Given the description of an element on the screen output the (x, y) to click on. 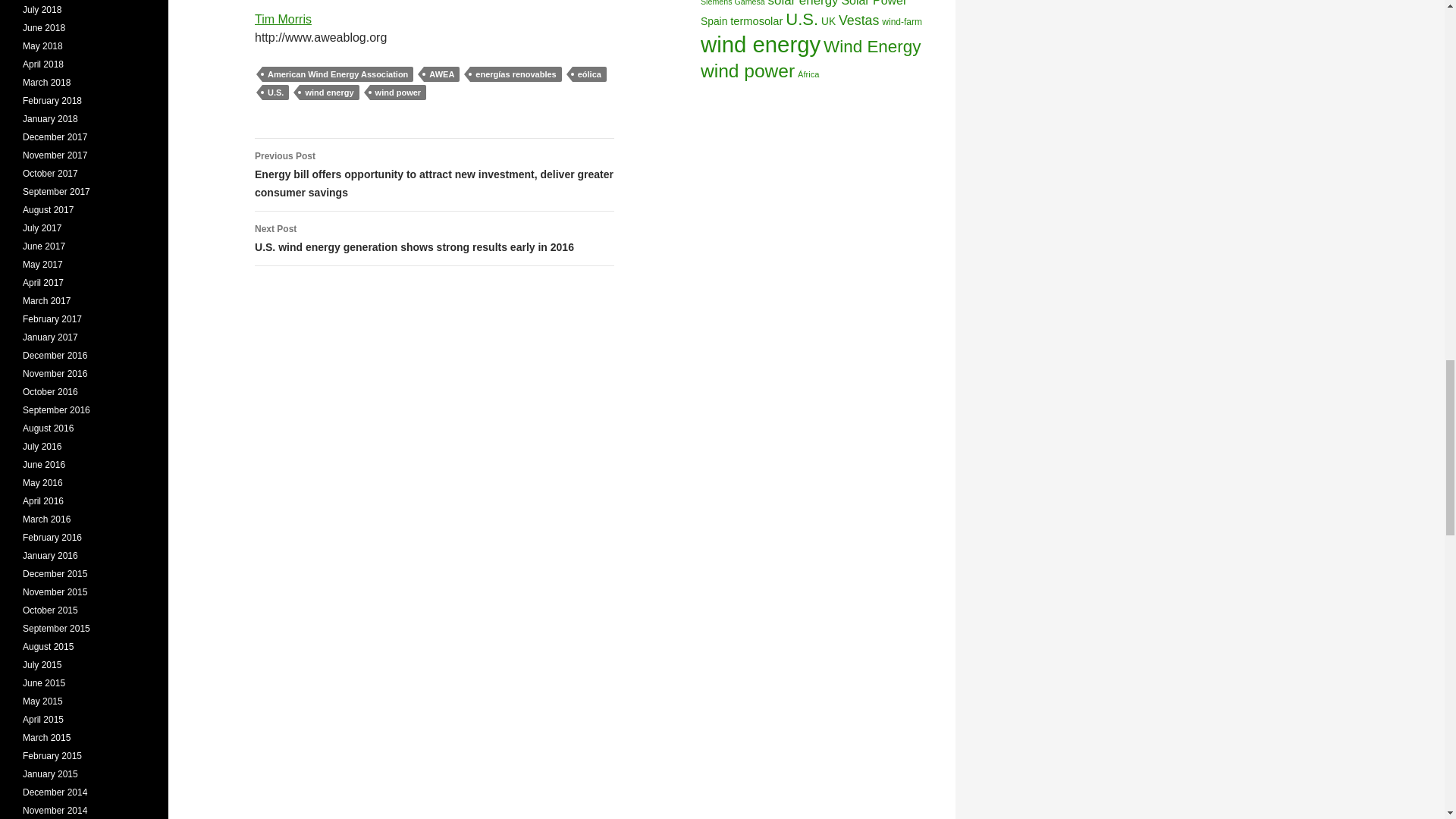
wind power (397, 92)
AWEA (441, 73)
wind energy (328, 92)
American Wind Energy Association (337, 73)
Tim Morris (282, 19)
Posts by Tim Morris (282, 19)
U.S. (275, 92)
